Given the description of an element on the screen output the (x, y) to click on. 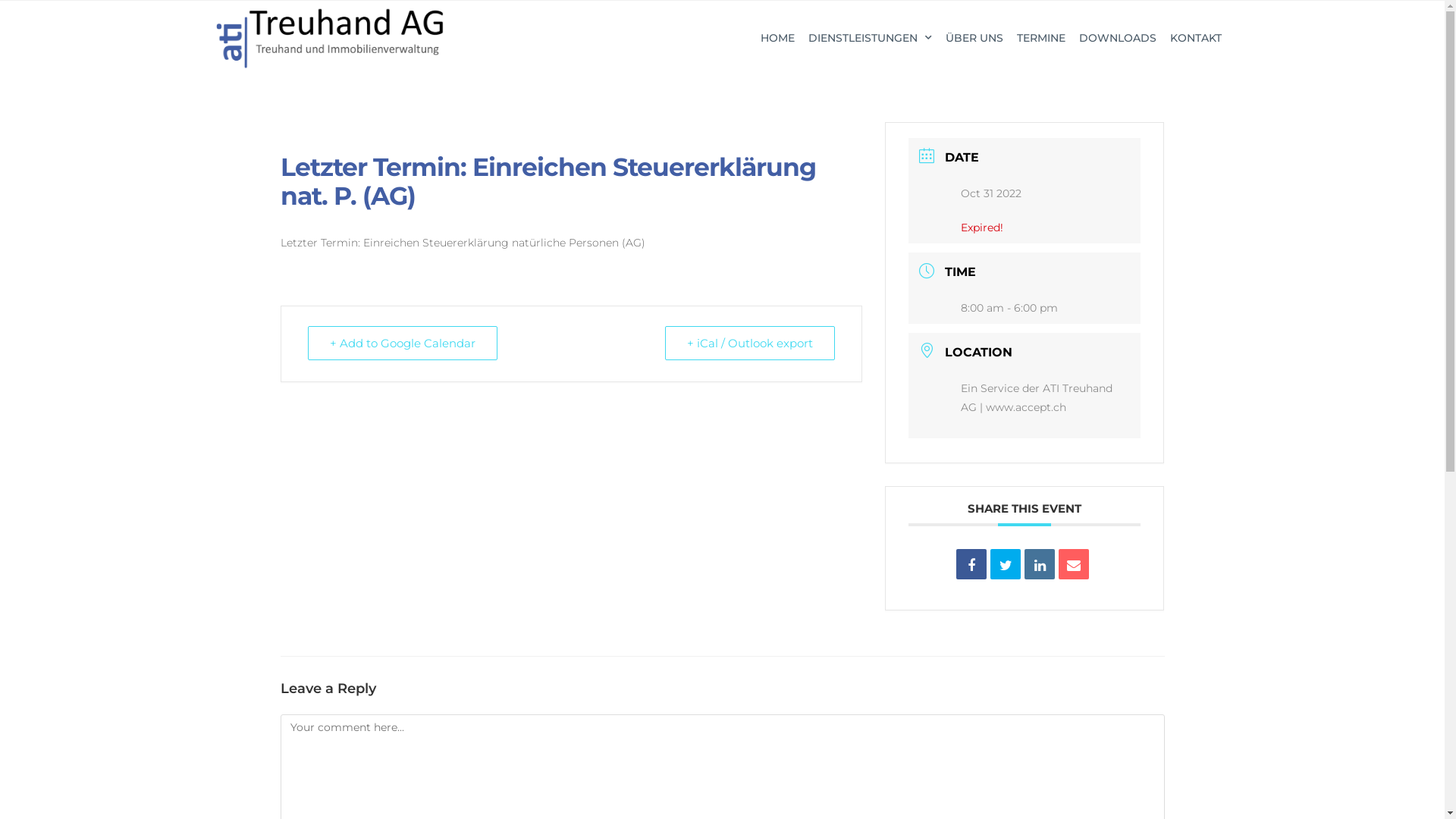
+ iCal / Outlook export Element type: text (749, 343)
TERMINE Element type: text (1041, 37)
+ Add to Google Calendar Element type: text (402, 343)
DOWNLOADS Element type: text (1117, 37)
HOME Element type: text (777, 37)
Tweet Element type: hover (1005, 564)
Email Element type: hover (1073, 564)
Linkedin Element type: hover (1039, 564)
KONTAKT Element type: text (1195, 37)
Share on Facebook Element type: hover (971, 564)
DIENSTLEISTUNGEN Element type: text (869, 37)
